Given the description of an element on the screen output the (x, y) to click on. 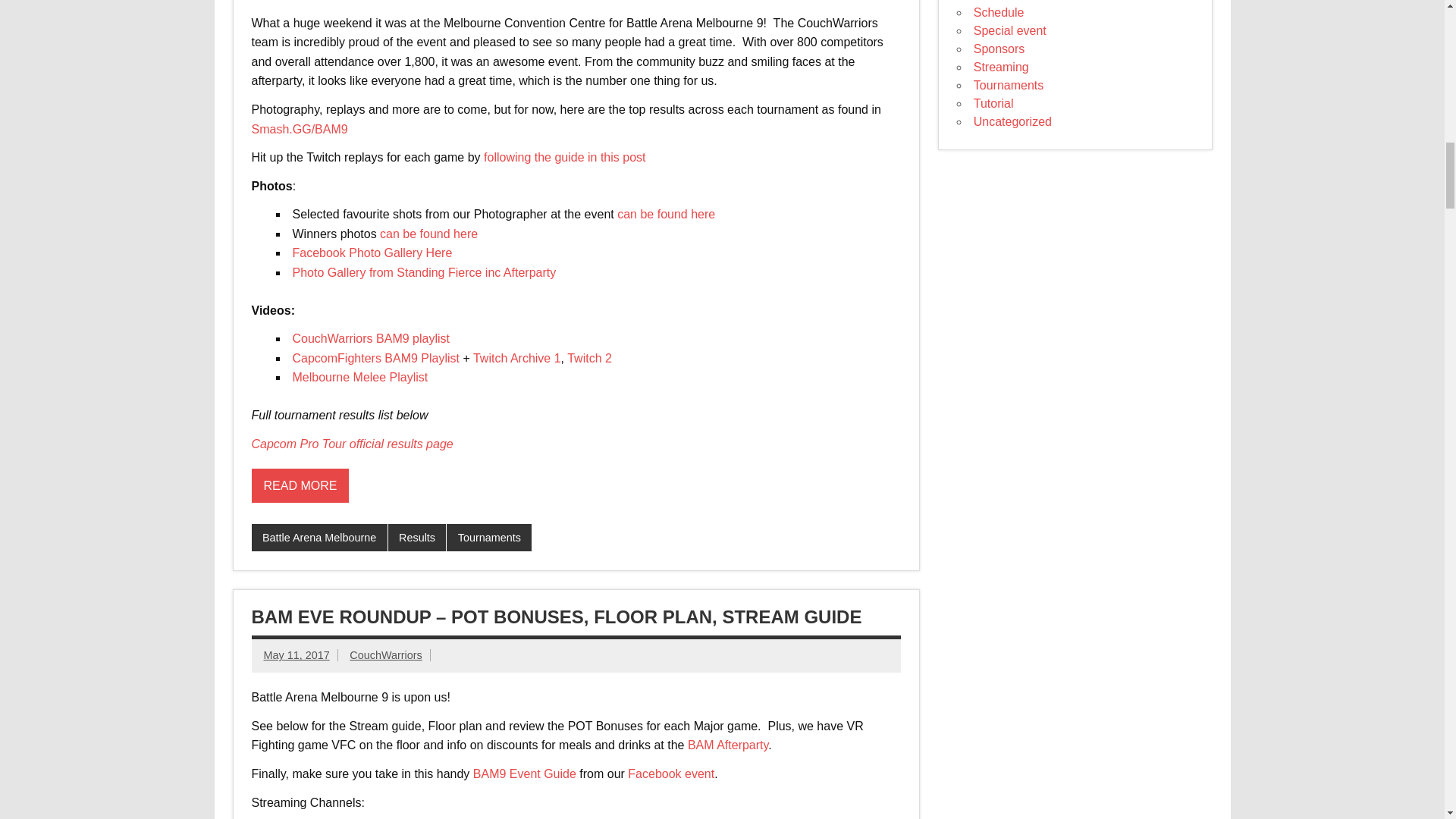
Photo Gallery from Standing Fierce inc Afterparty (424, 272)
11:38 pm (296, 654)
can be found here (428, 233)
View all posts by CouchWarriors (385, 654)
CouchWarriors BAM9 playlist (370, 338)
Facebook Photo Gallery Here (372, 252)
following the guide in this post (564, 156)
can be found here (665, 214)
